Given the description of an element on the screen output the (x, y) to click on. 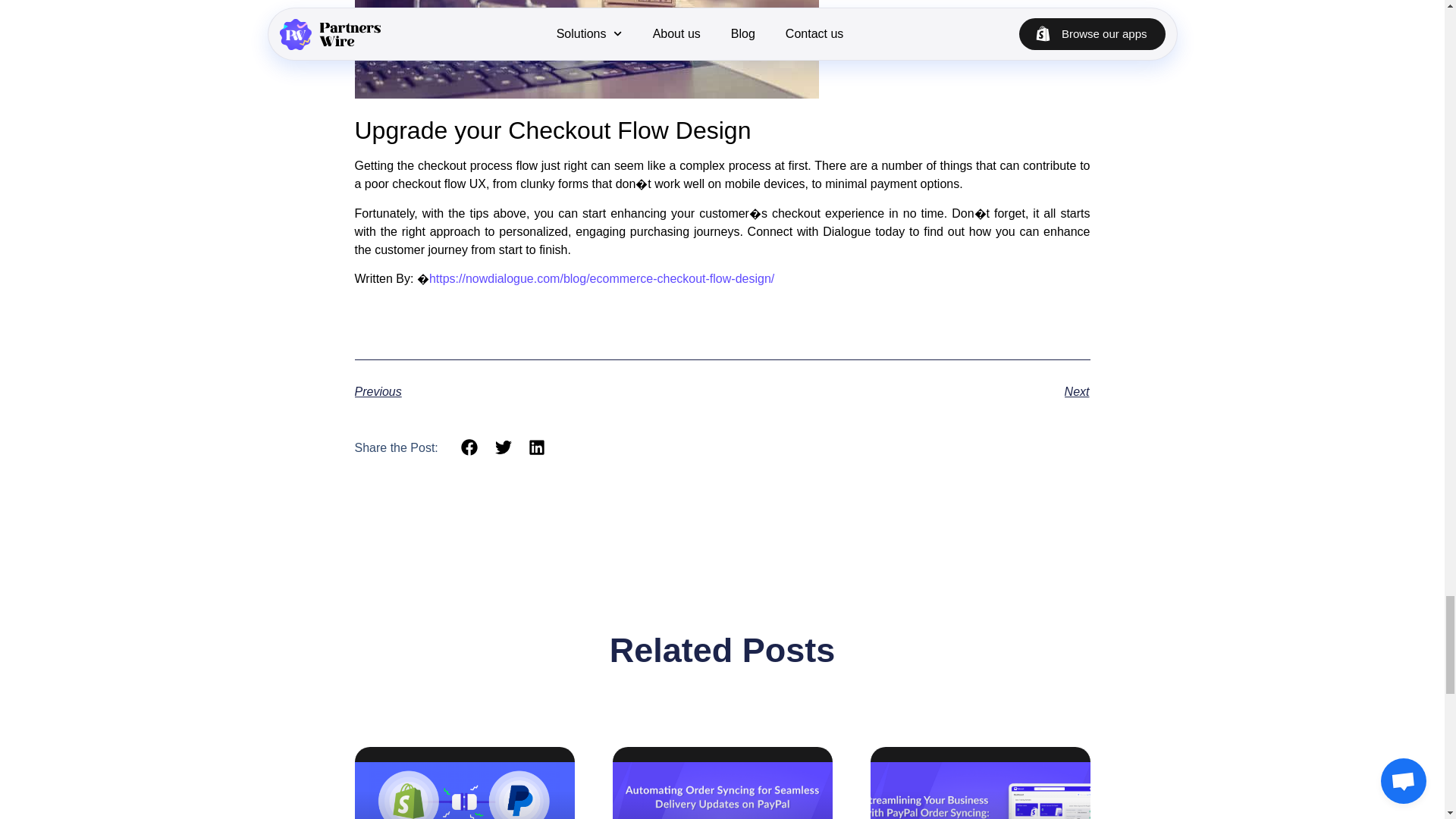
Previous (538, 392)
Next (905, 392)
